Given the description of an element on the screen output the (x, y) to click on. 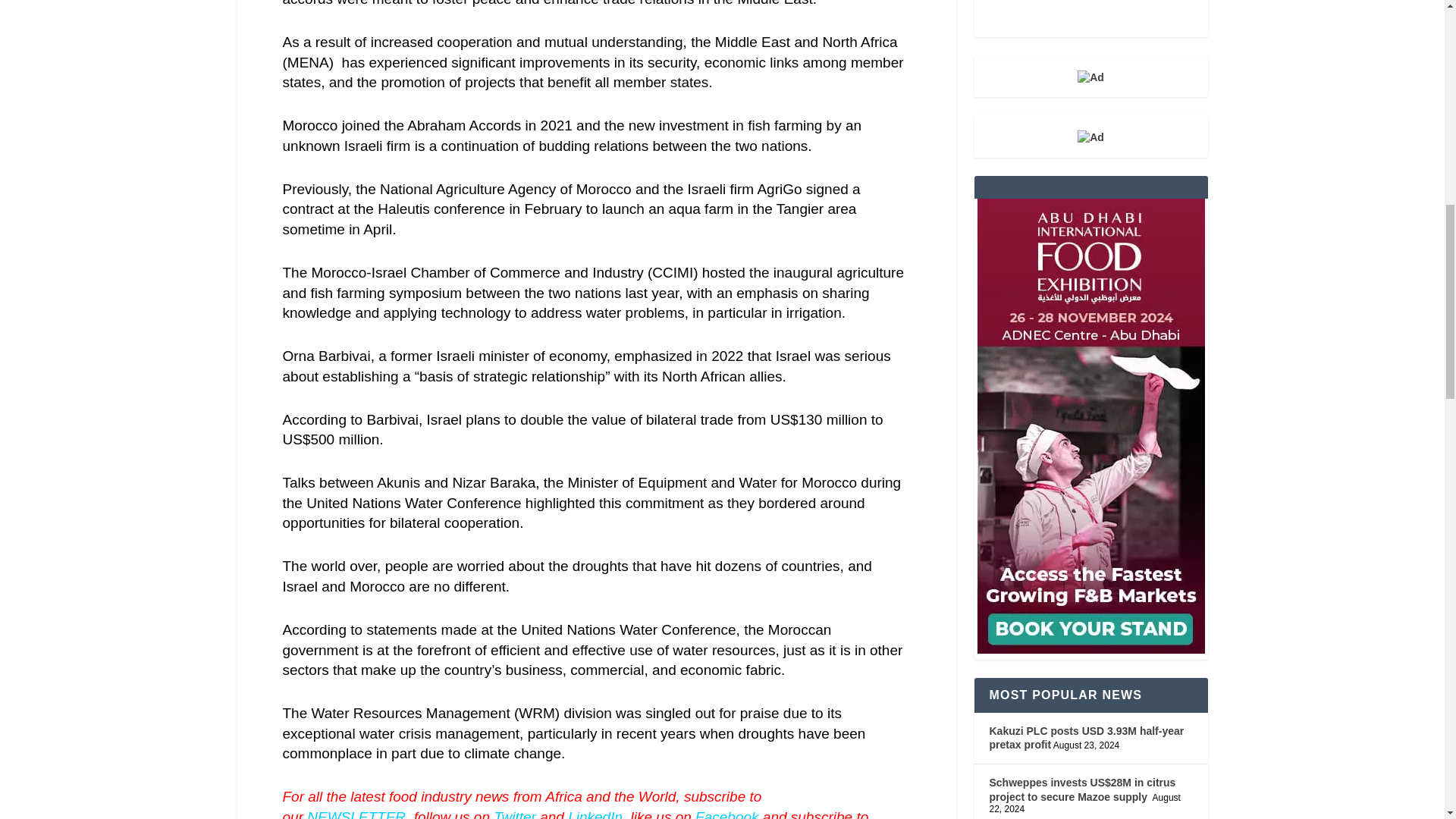
LATEST DIGITAL MAGAZINE (1090, 18)
NEWSLETTER (356, 814)
Twitter (514, 814)
Facebook (726, 814)
LinkedIn (595, 814)
